Given the description of an element on the screen output the (x, y) to click on. 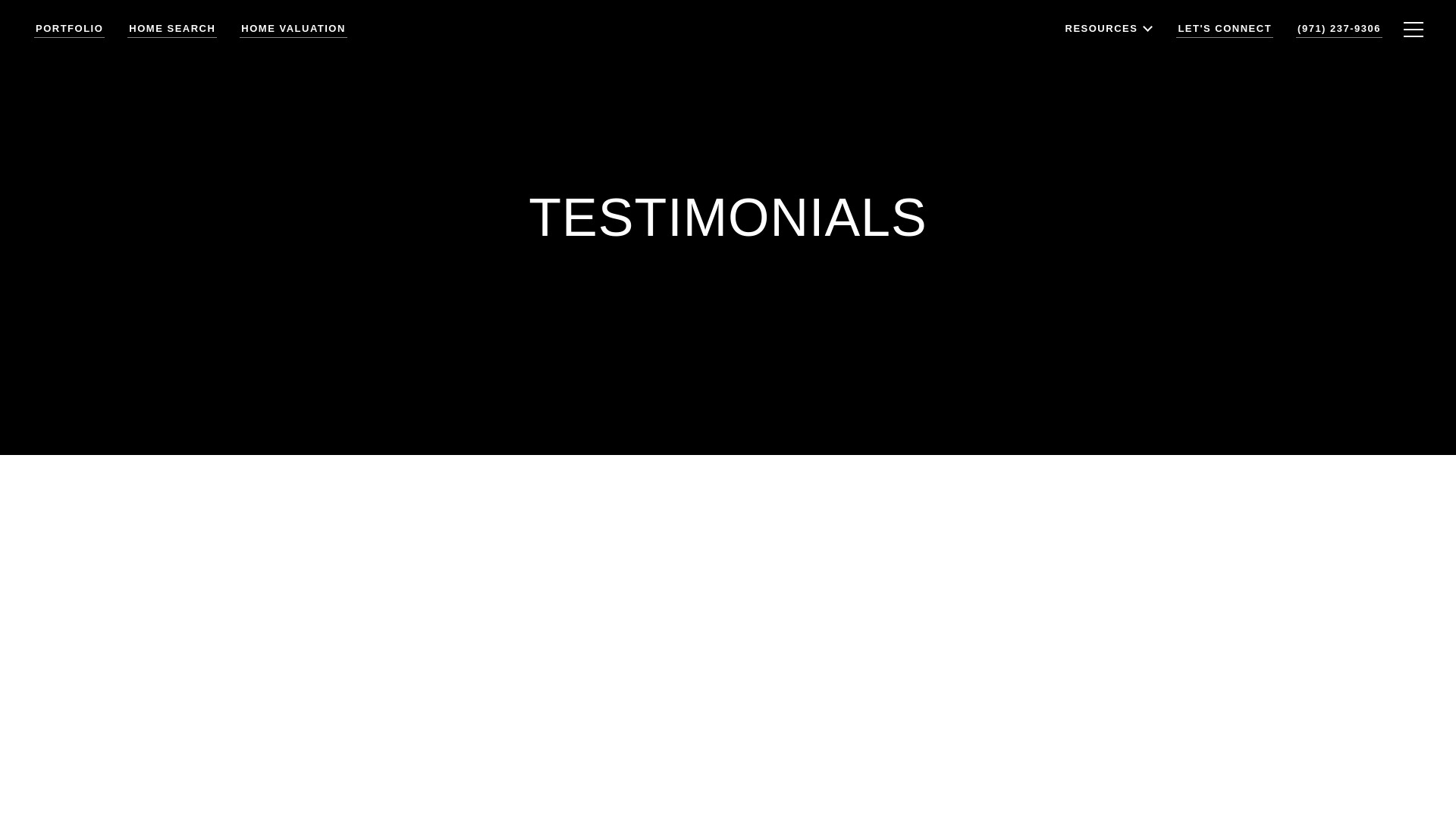
LET'S CONNECT (1224, 41)
RESOURCES (1110, 65)
HOME SEARCH (172, 44)
HOME VALUATION (293, 44)
PORTFOLIO (68, 44)
